Given the description of an element on the screen output the (x, y) to click on. 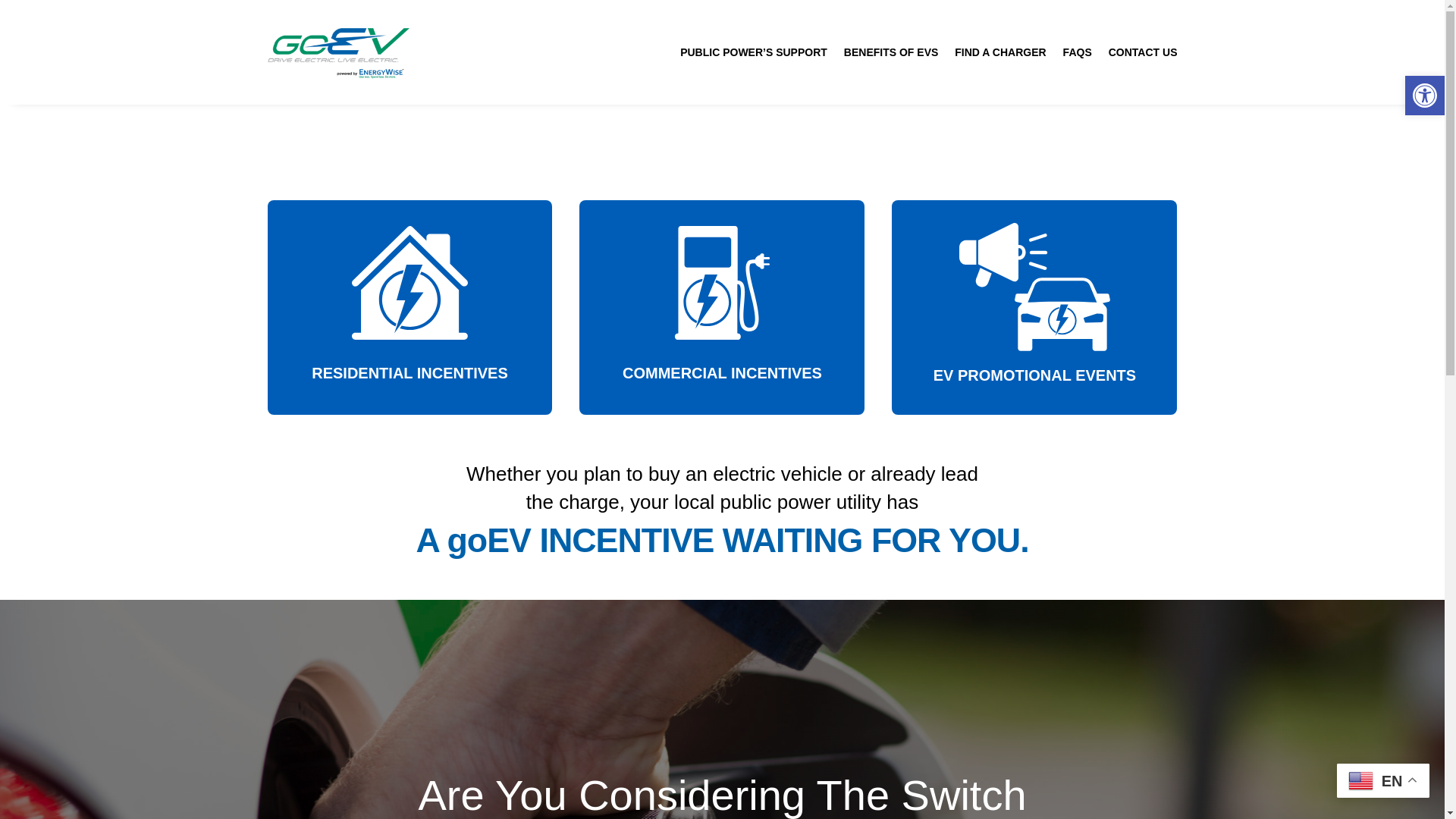
BENEFITS OF EVS (890, 54)
CONTACT US (1142, 54)
GoEVSmall (337, 52)
FIND A CHARGER (1000, 54)
FAQS (1077, 54)
Accessibility Tools (1424, 95)
